Given the description of an element on the screen output the (x, y) to click on. 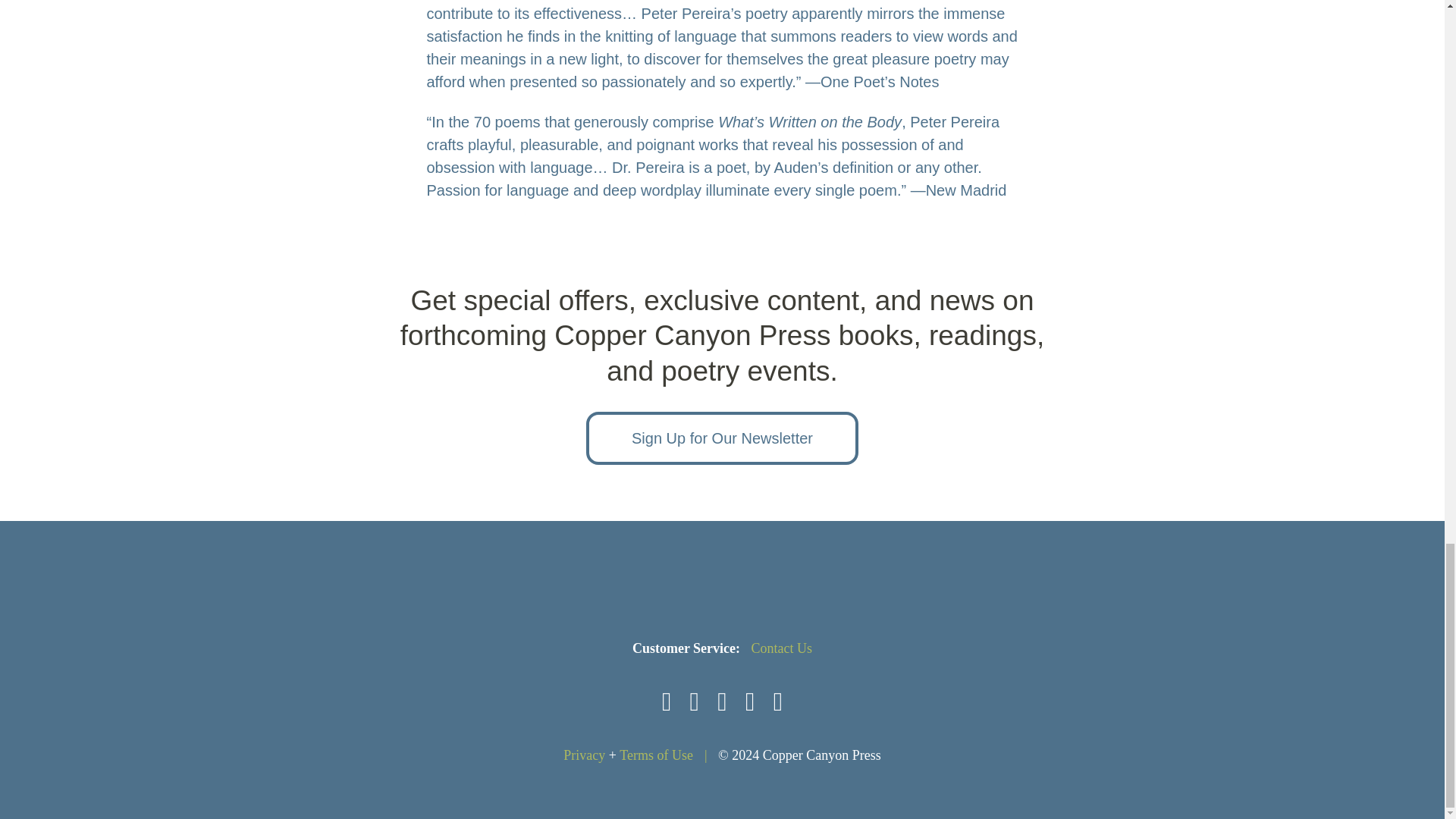
Sign Up for Our Newsletter (722, 438)
